Given the description of an element on the screen output the (x, y) to click on. 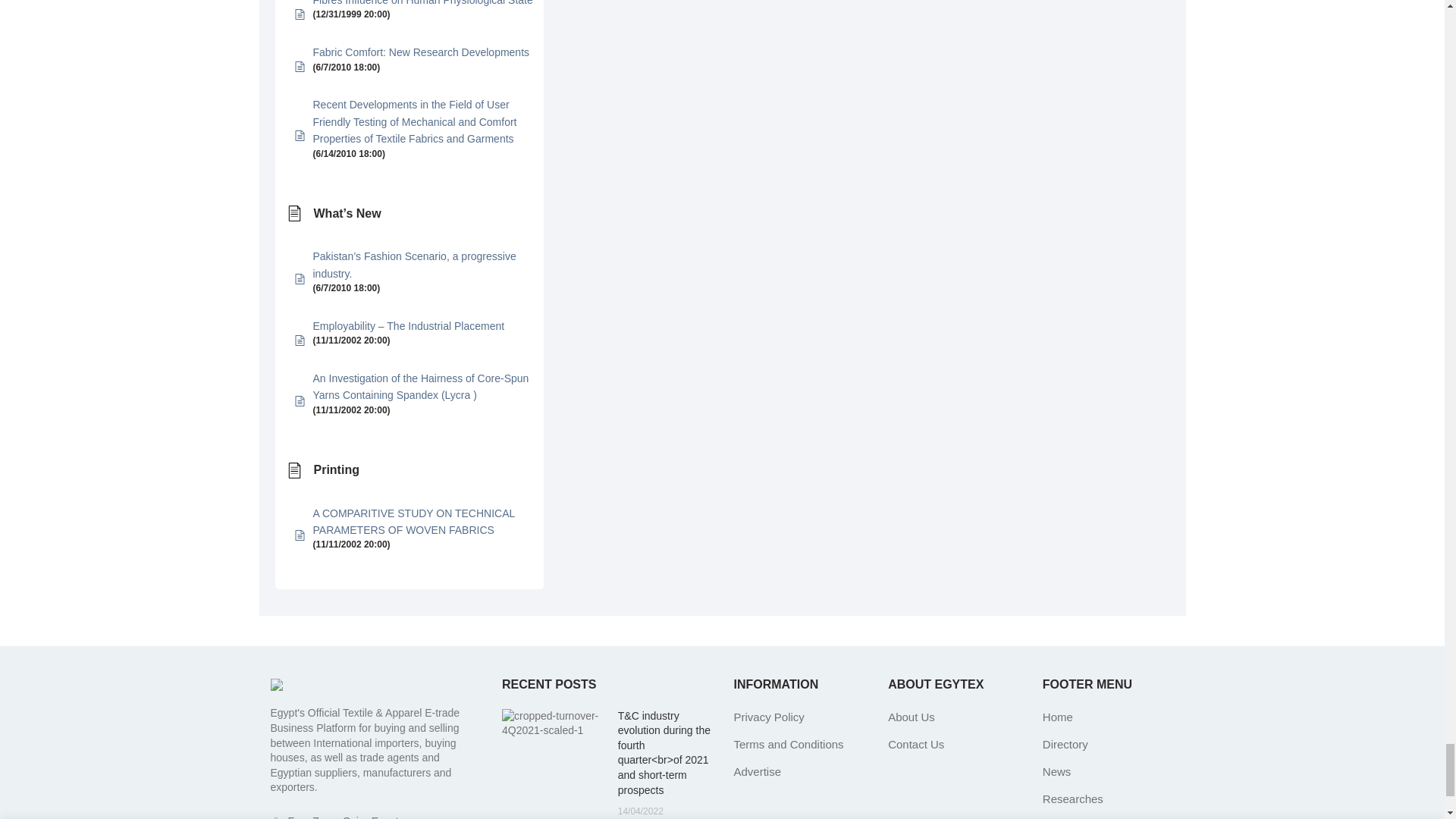
cropped-turnover-4Q2021-scaled-1 (554, 723)
